Given the description of an element on the screen output the (x, y) to click on. 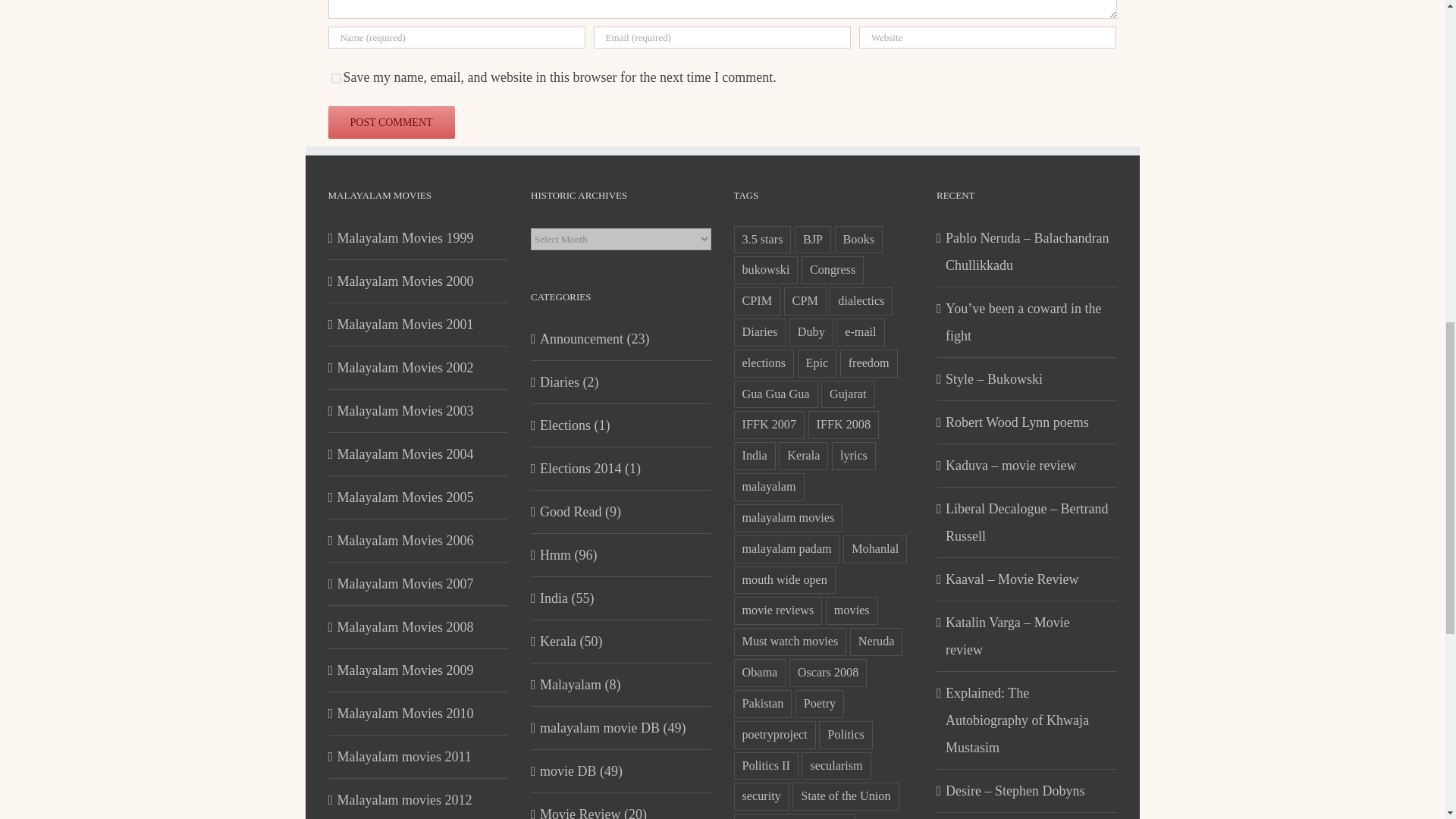
Post Comment (390, 122)
yes (335, 78)
Post Comment (390, 122)
